Given the description of an element on the screen output the (x, y) to click on. 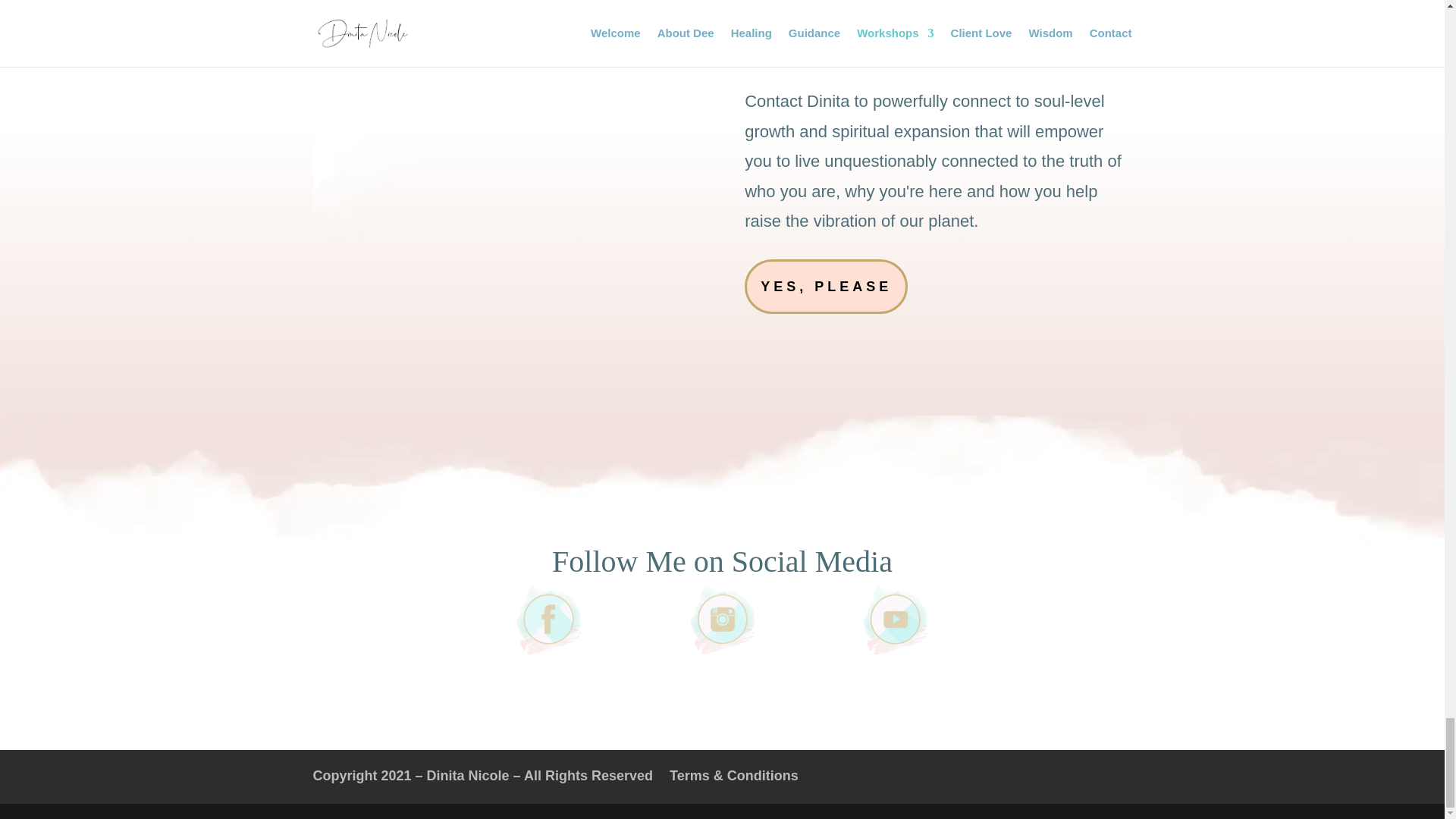
YES, PLEASE (825, 286)
